Given the description of an element on the screen output the (x, y) to click on. 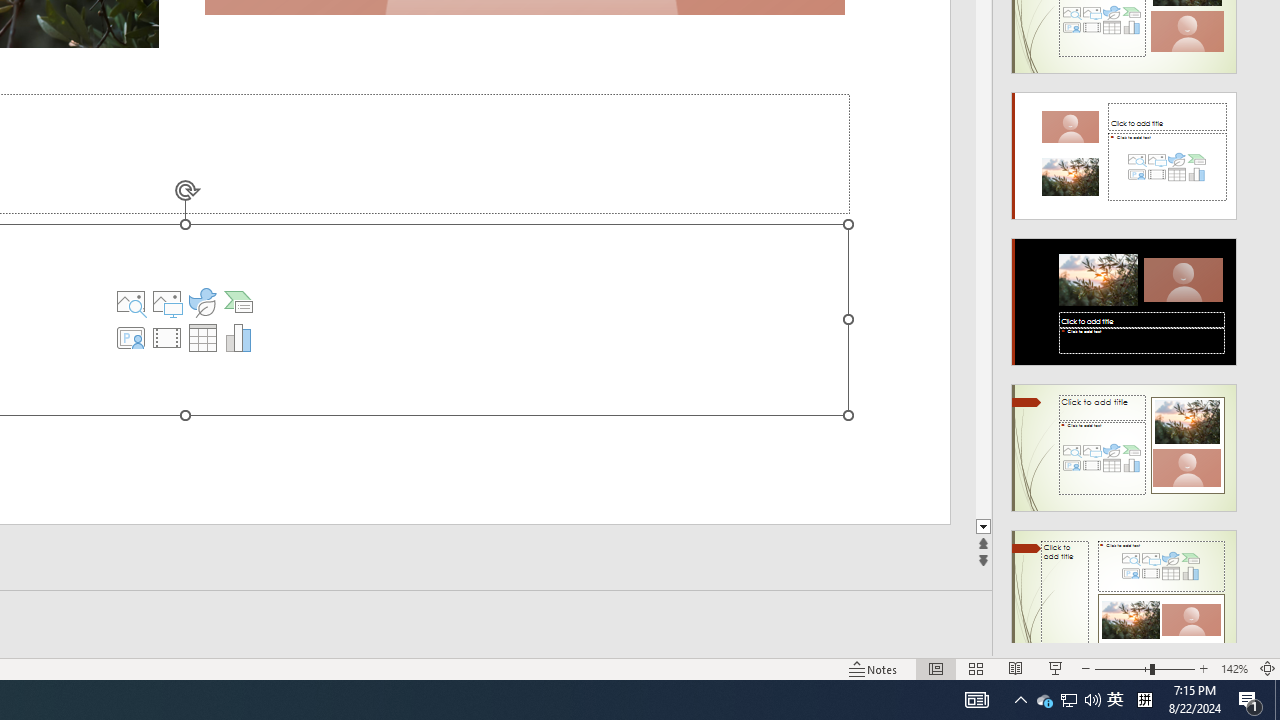
Insert Table (202, 337)
Insert an Icon (202, 301)
Stock Images (131, 301)
Insert Cameo (131, 337)
Insert Chart (238, 337)
Insert Video (167, 337)
Pictures (167, 301)
Notes  (874, 668)
Insert a SmartArt Graphic (238, 301)
Line down (1271, 527)
